Given the description of an element on the screen output the (x, y) to click on. 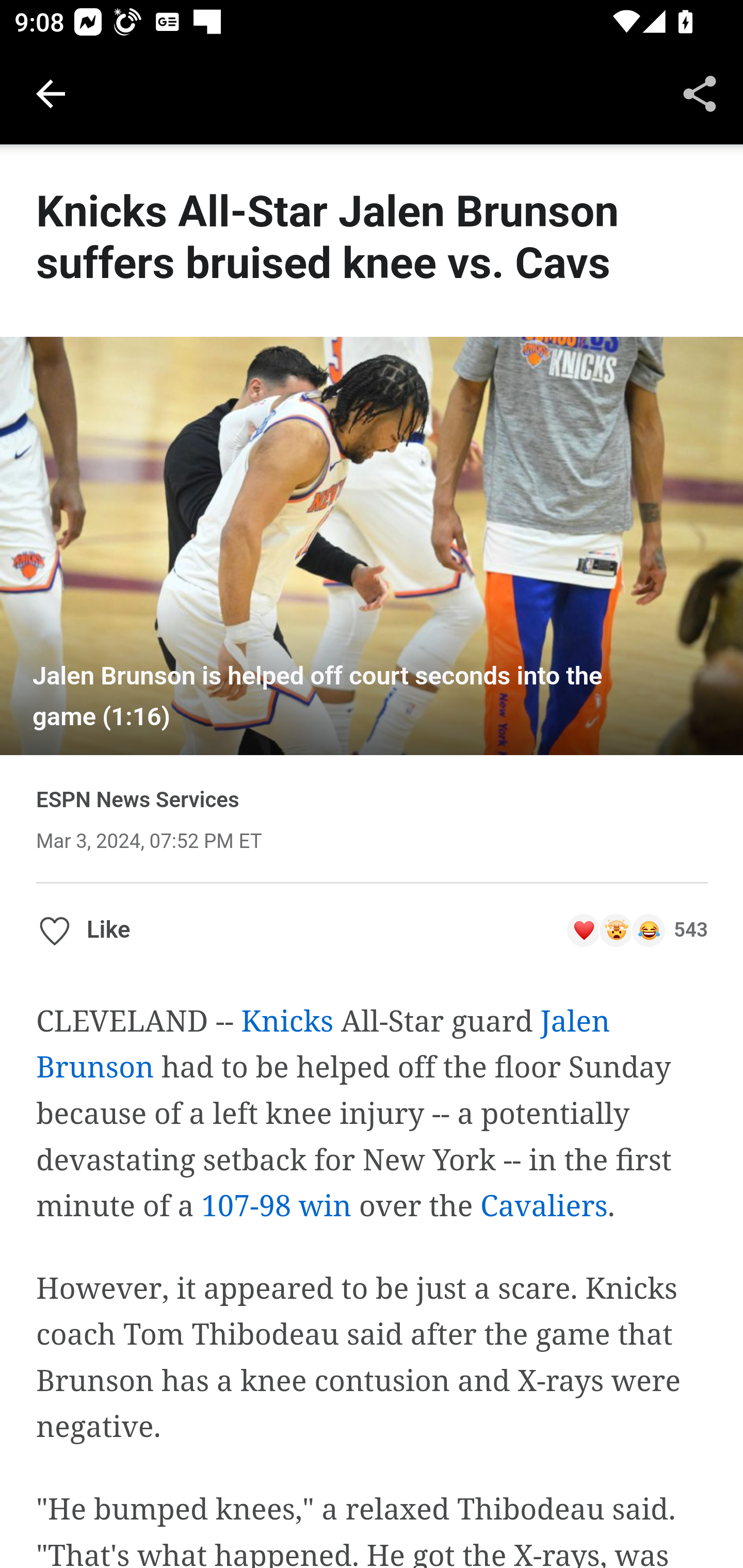
Navigate up (50, 93)
Share (699, 93)
